Given the description of an element on the screen output the (x, y) to click on. 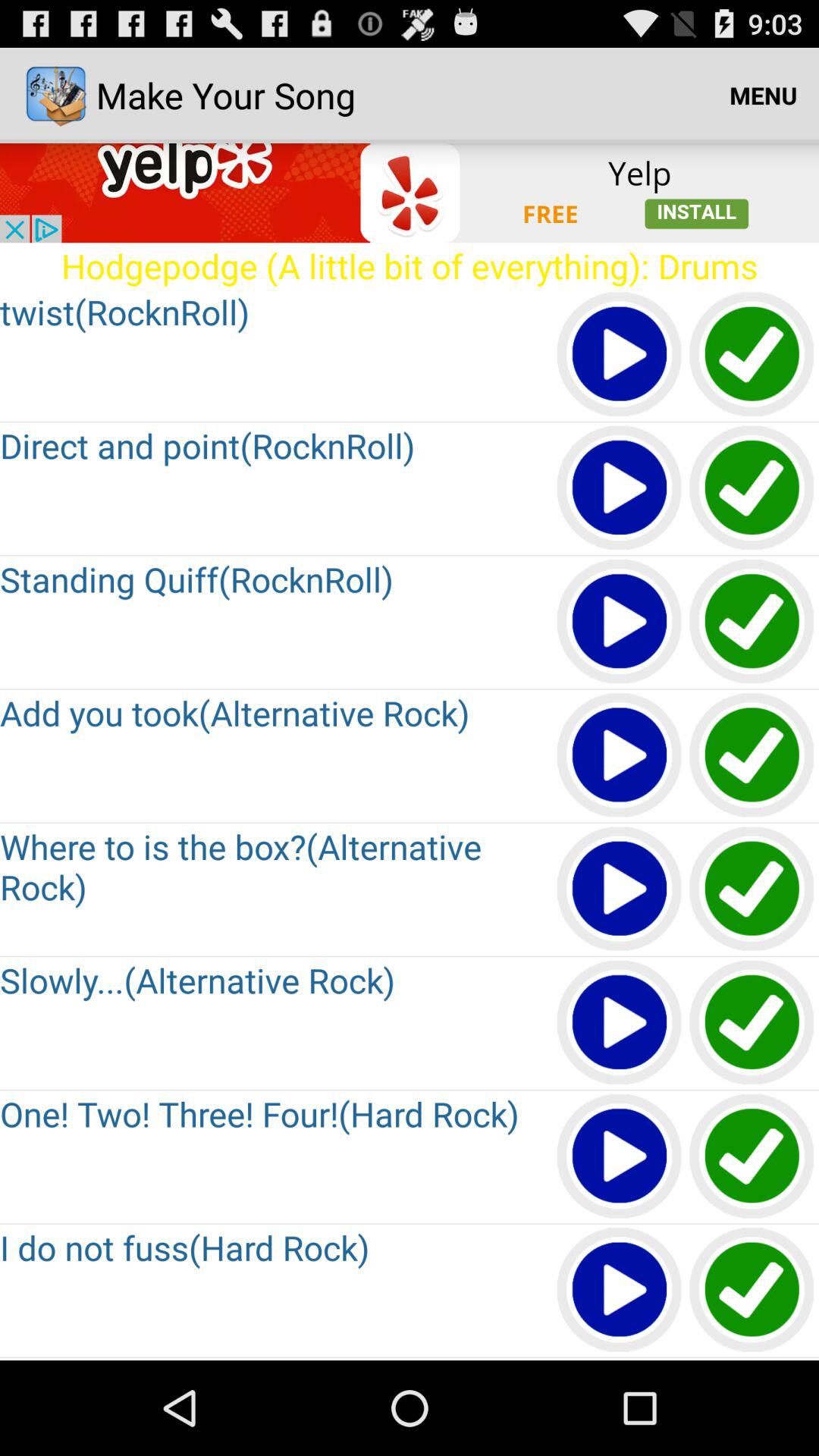
the music are reduce tension (752, 1023)
